Given the description of an element on the screen output the (x, y) to click on. 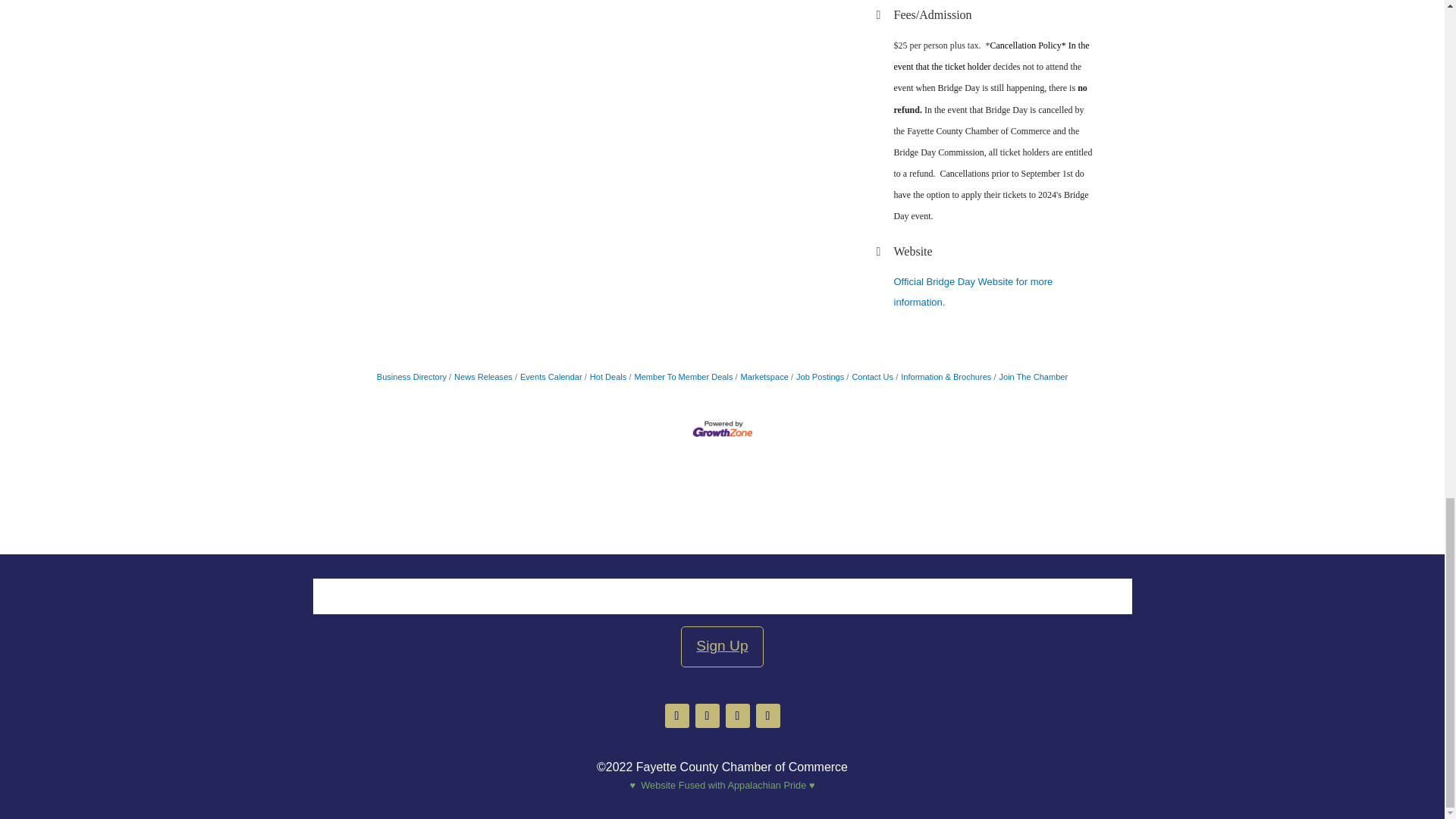
Follow on X (706, 715)
Follow on Pinterest (737, 715)
Follow on Facebook (675, 715)
